Given the description of an element on the screen output the (x, y) to click on. 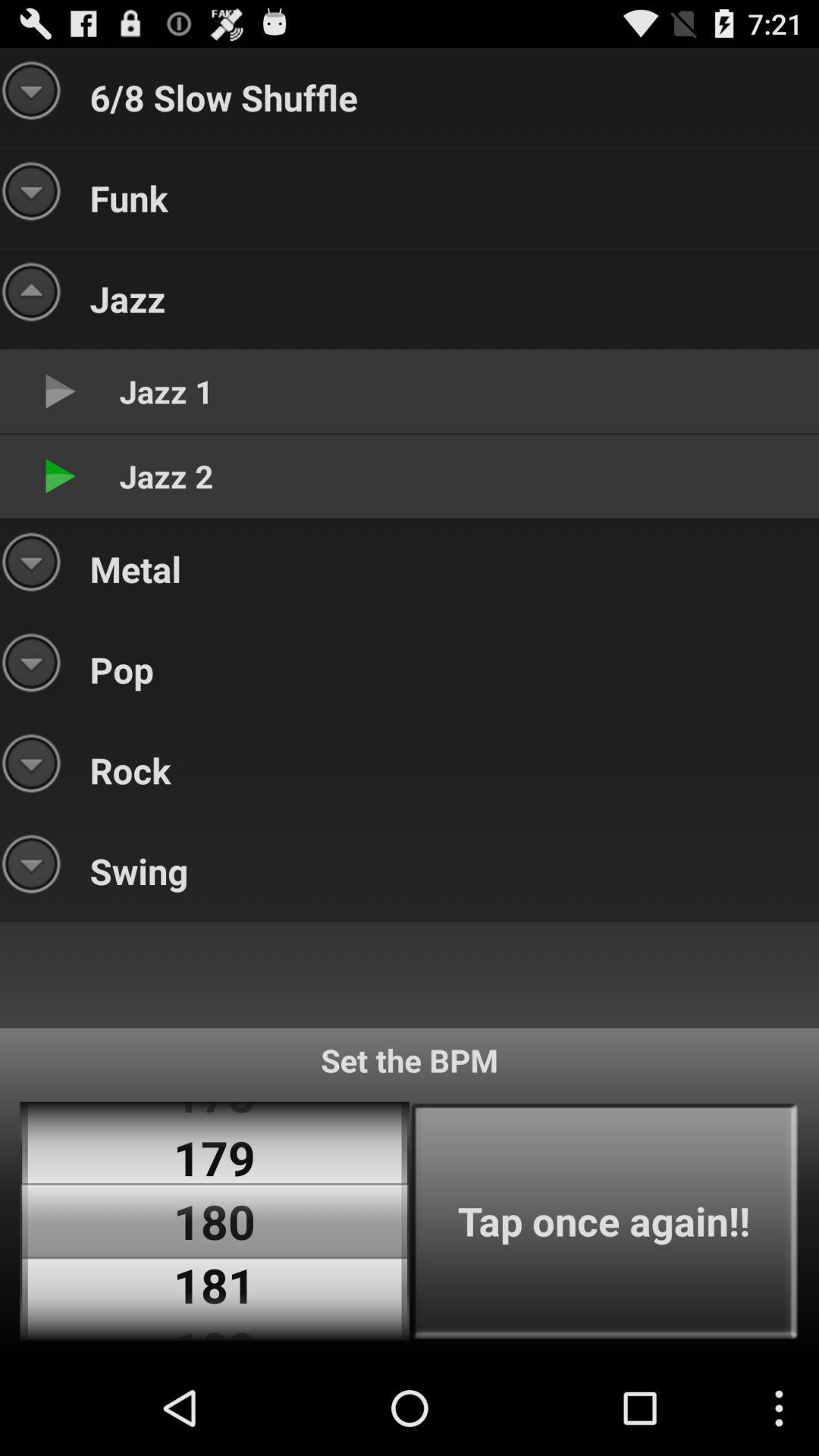
turn on item below set the bpm icon (604, 1220)
